Given the description of an element on the screen output the (x, y) to click on. 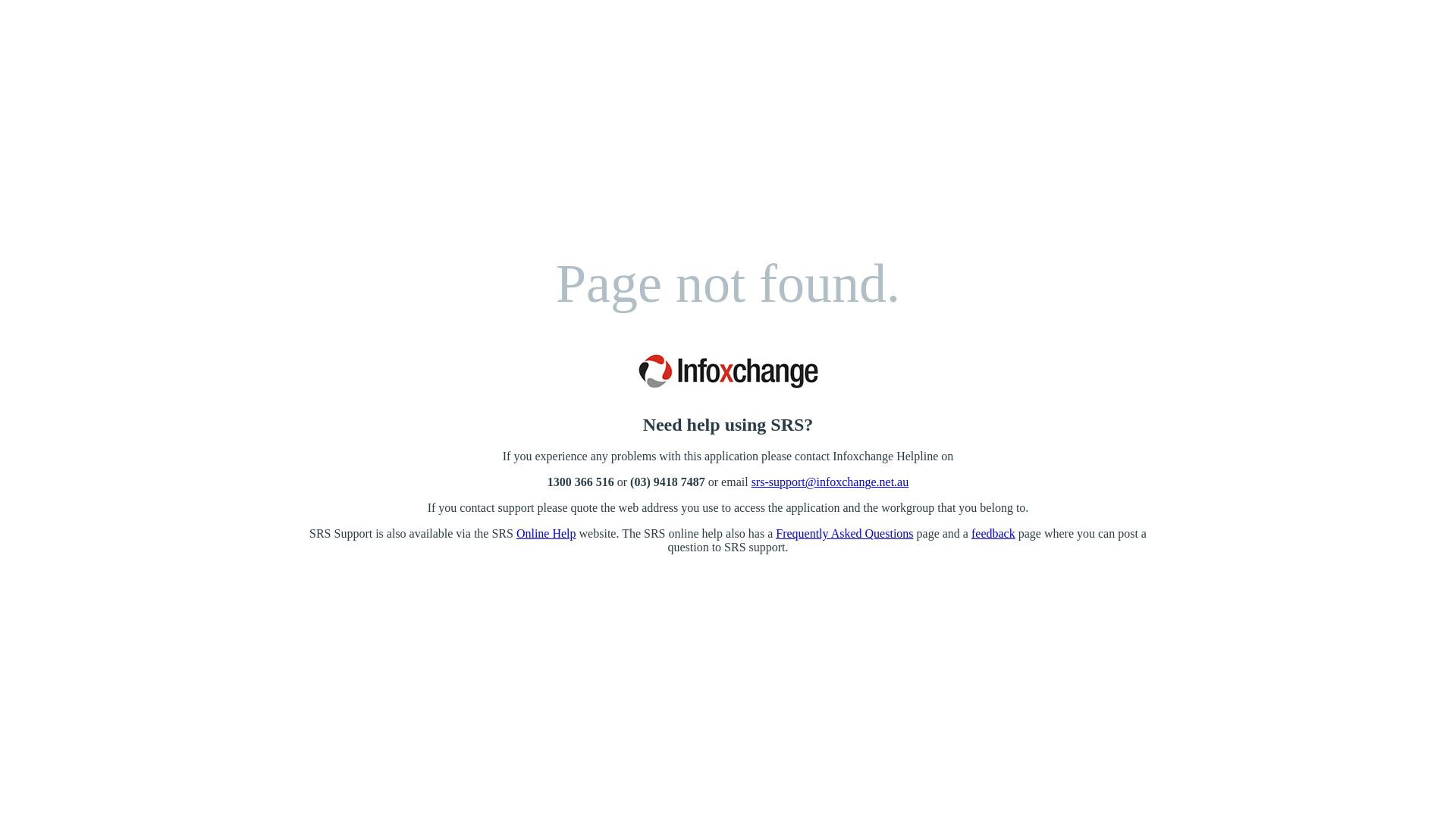
feedback Element type: text (993, 533)
Frequently Asked Questions Element type: text (844, 533)
Online Help Element type: text (546, 533)
srs-support@infoxchange.net.au Element type: text (830, 481)
